Given the description of an element on the screen output the (x, y) to click on. 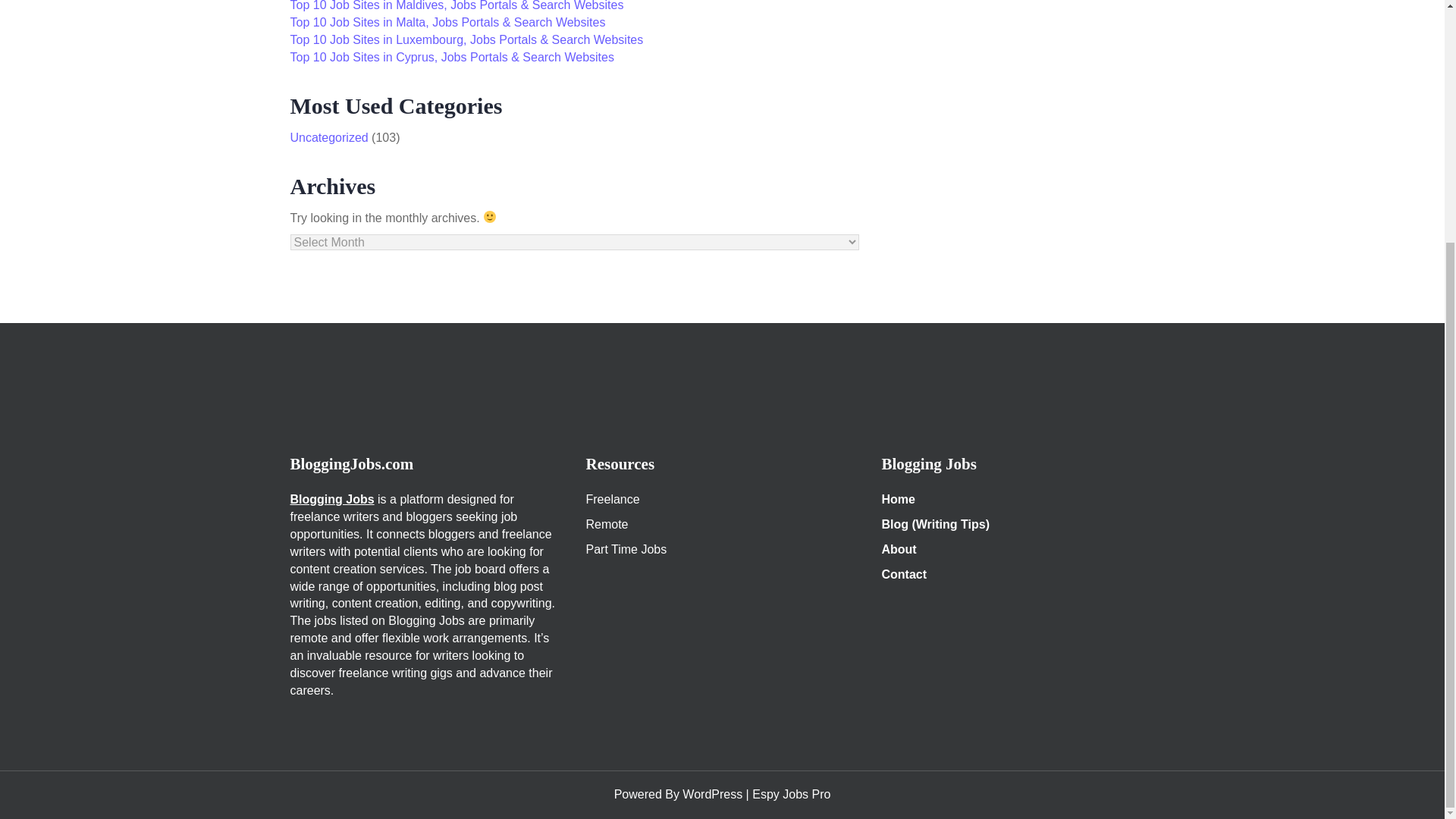
Contact (903, 574)
Blogging Jobs (331, 499)
Uncategorized (328, 137)
About (897, 549)
Espy Jobs Pro (790, 793)
Home (897, 499)
